Given the description of an element on the screen output the (x, y) to click on. 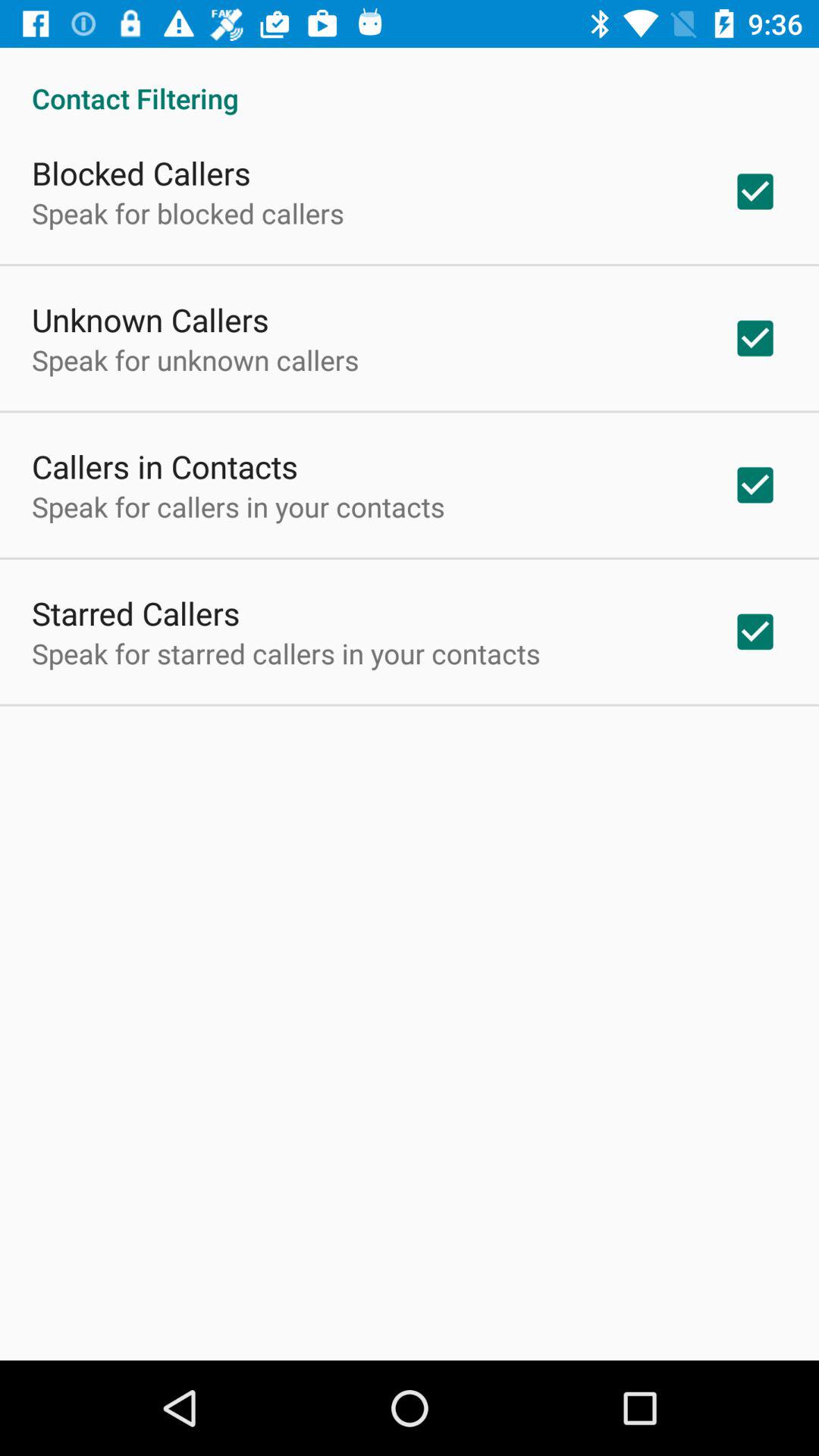
click the contact filtering (409, 82)
